Given the description of an element on the screen output the (x, y) to click on. 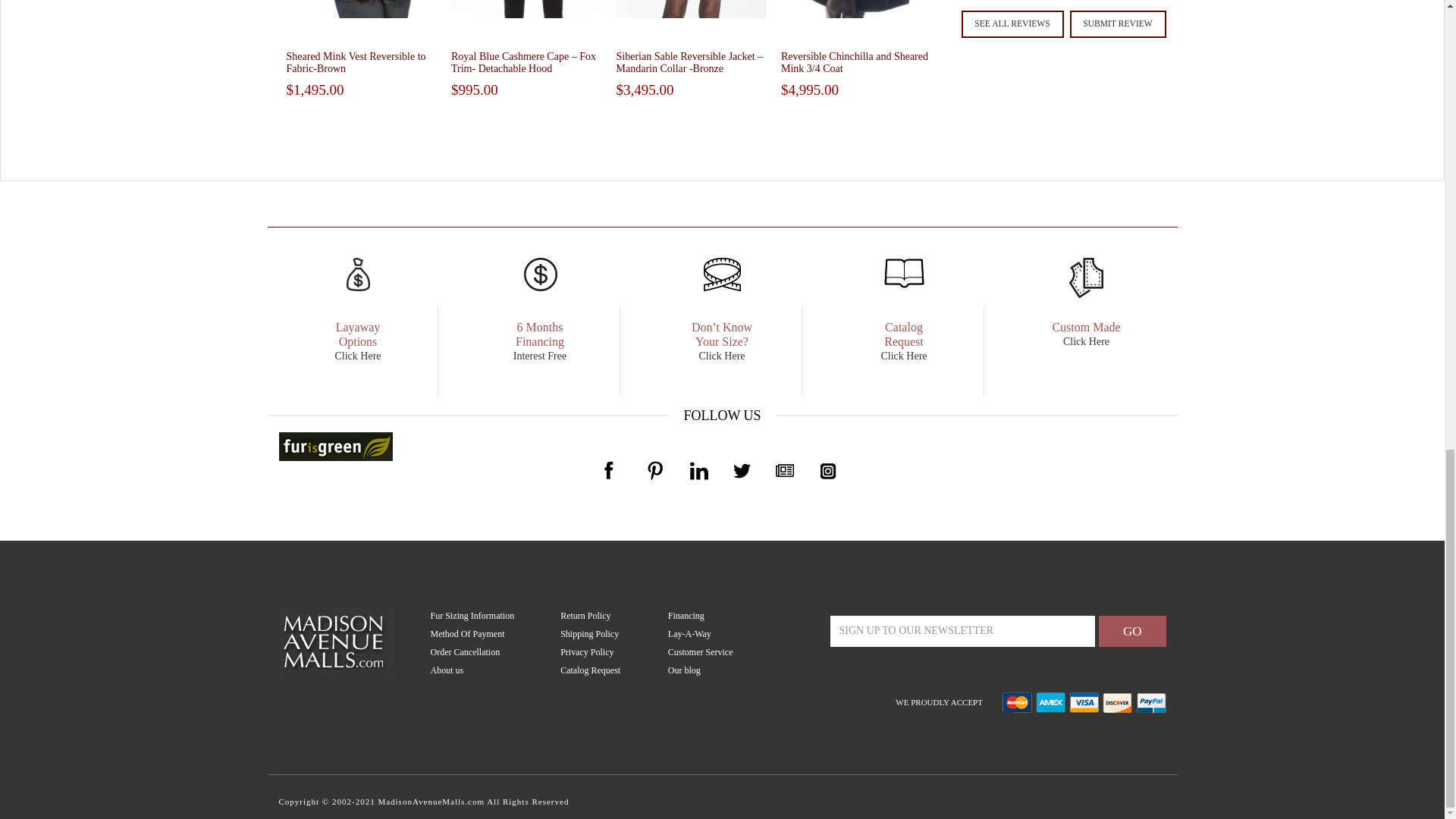
1954-sabl-brnz-4814 (690, 9)
Madison Avenue Malls (334, 639)
Go (1132, 631)
royal-blue-fox-trim-cashmere-cape1486hd-214826 (526, 9)
Sheared-Mink-Vest-Reversible-to-Fabric-Brown (361, 9)
